Given the description of an element on the screen output the (x, y) to click on. 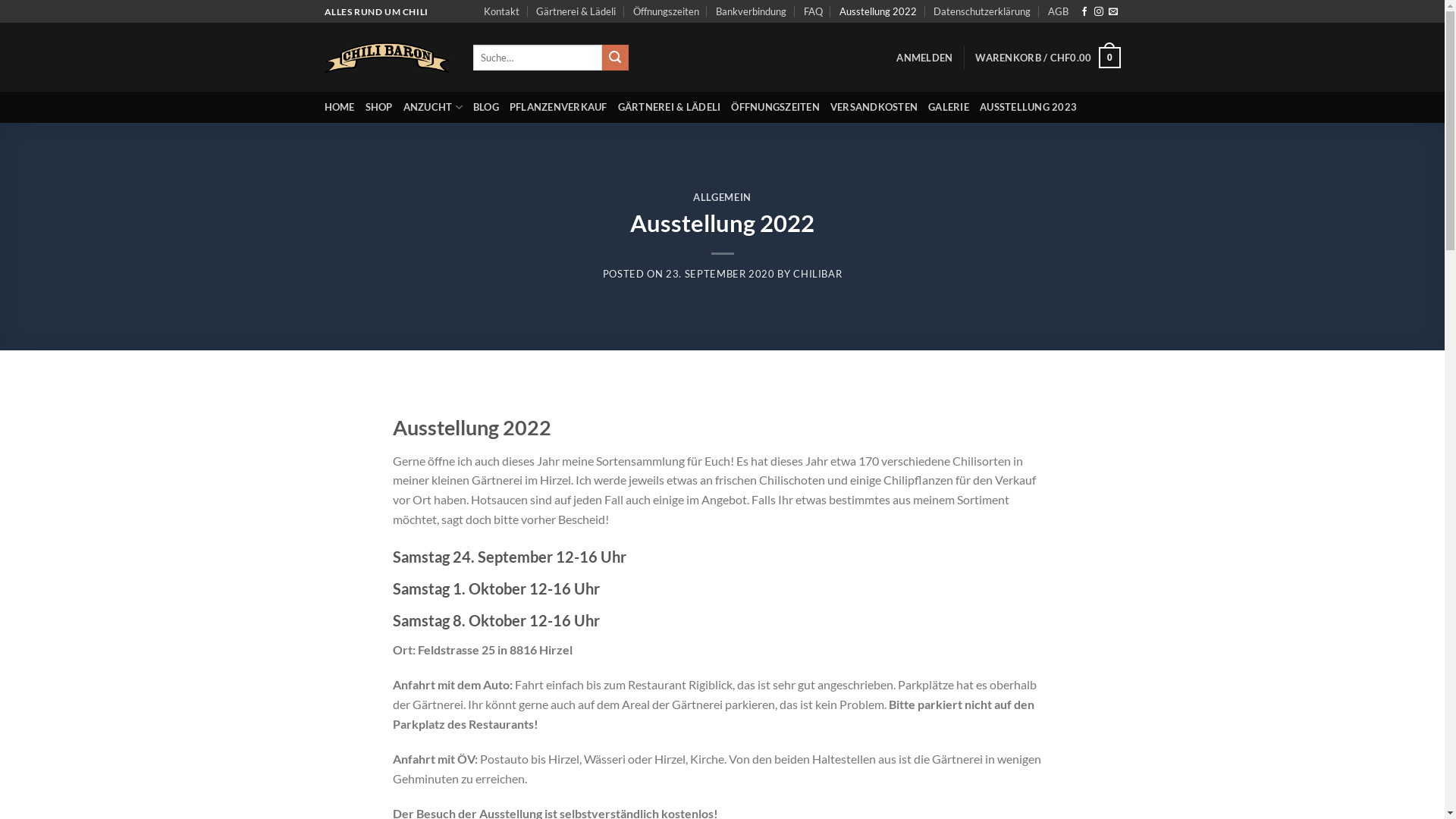
Suche Element type: text (614, 57)
CHILIBAR Element type: text (817, 273)
WARENKORB / CHF0.00
0 Element type: text (1047, 57)
BLOG Element type: text (485, 106)
HOME Element type: text (339, 106)
Skip to content Element type: text (0, 0)
Kontakt Element type: text (501, 11)
AUSSTELLUNG 2023 Element type: text (1027, 106)
ANMELDEN Element type: text (924, 57)
SHOP Element type: text (378, 106)
Ausstellung 2022 Element type: text (877, 11)
AGB Element type: text (1058, 11)
23. SEPTEMBER 2020 Element type: text (720, 273)
VERSANDKOSTEN Element type: text (873, 106)
ANZUCHT Element type: text (432, 106)
FAQ Element type: text (812, 11)
PFLANZENVERKAUF Element type: text (558, 106)
GALERIE Element type: text (948, 106)
Bankverbindung Element type: text (750, 11)
Chilibaron.ch - Alles rund um Chili! Element type: hover (387, 57)
ALLGEMEIN Element type: text (722, 197)
